Given the description of an element on the screen output the (x, y) to click on. 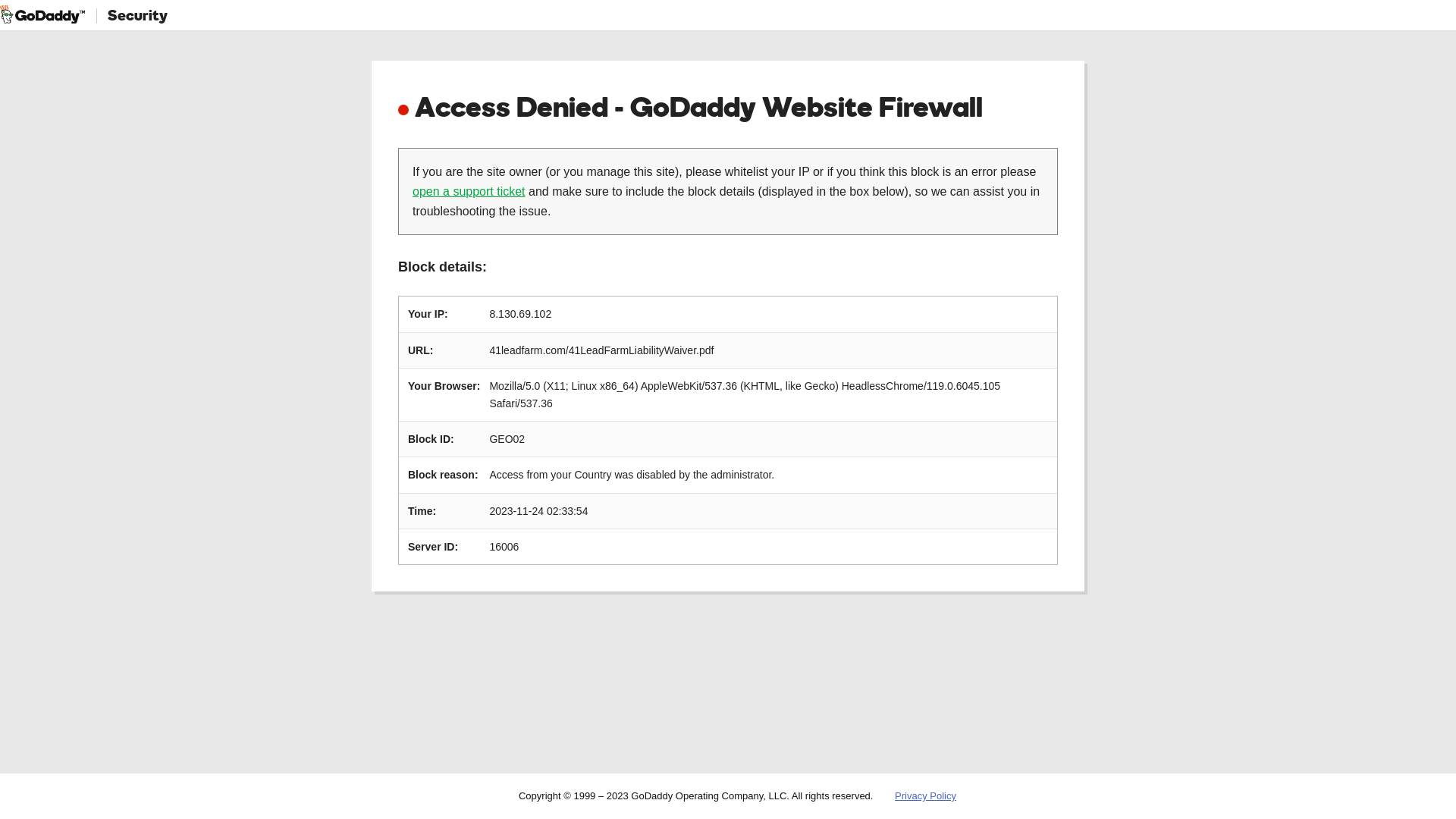
open a support ticket Element type: text (468, 191)
Privacy Policy Element type: text (925, 795)
